Given the description of an element on the screen output the (x, y) to click on. 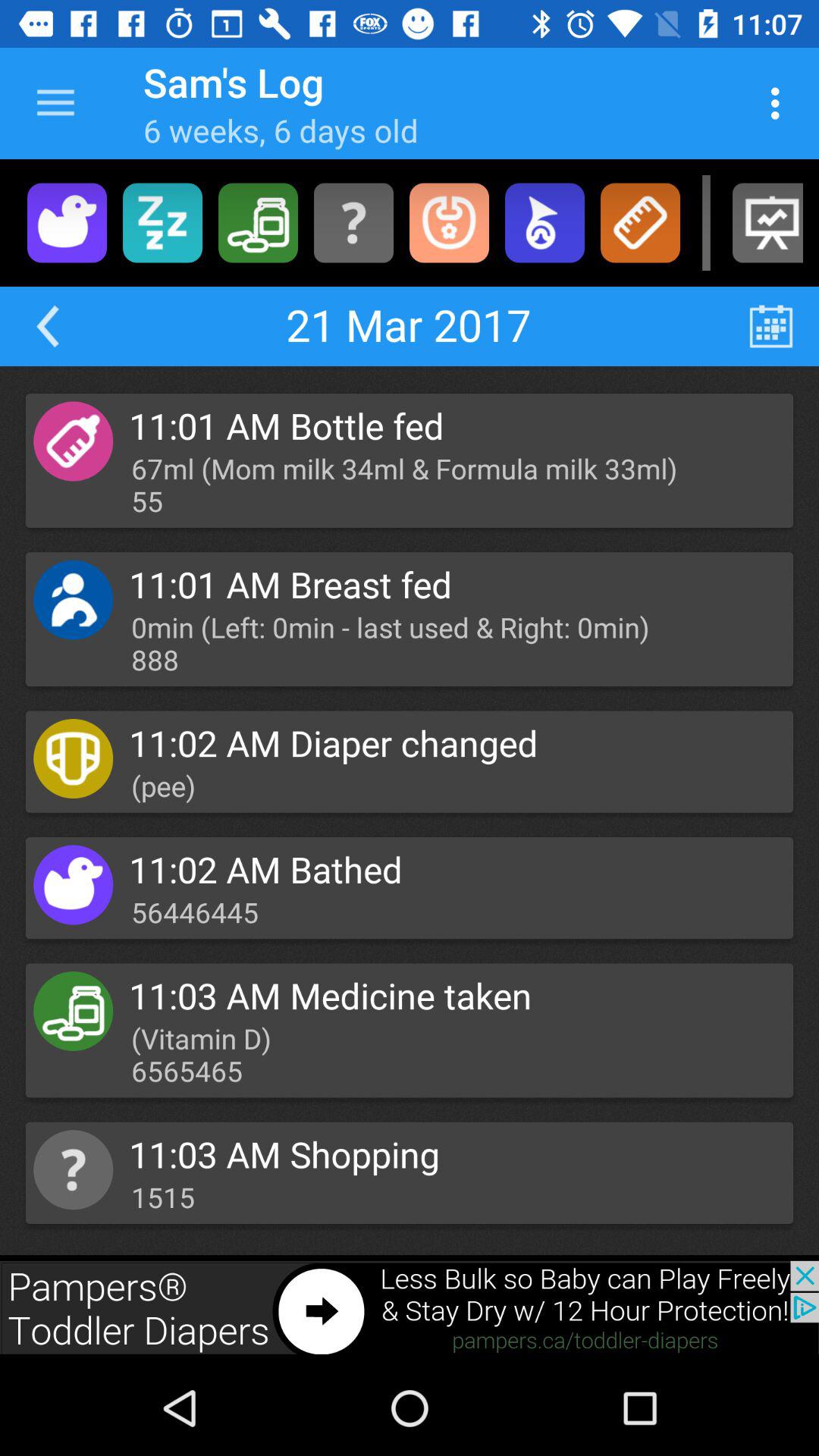
go to sleep (162, 222)
